Given the description of an element on the screen output the (x, y) to click on. 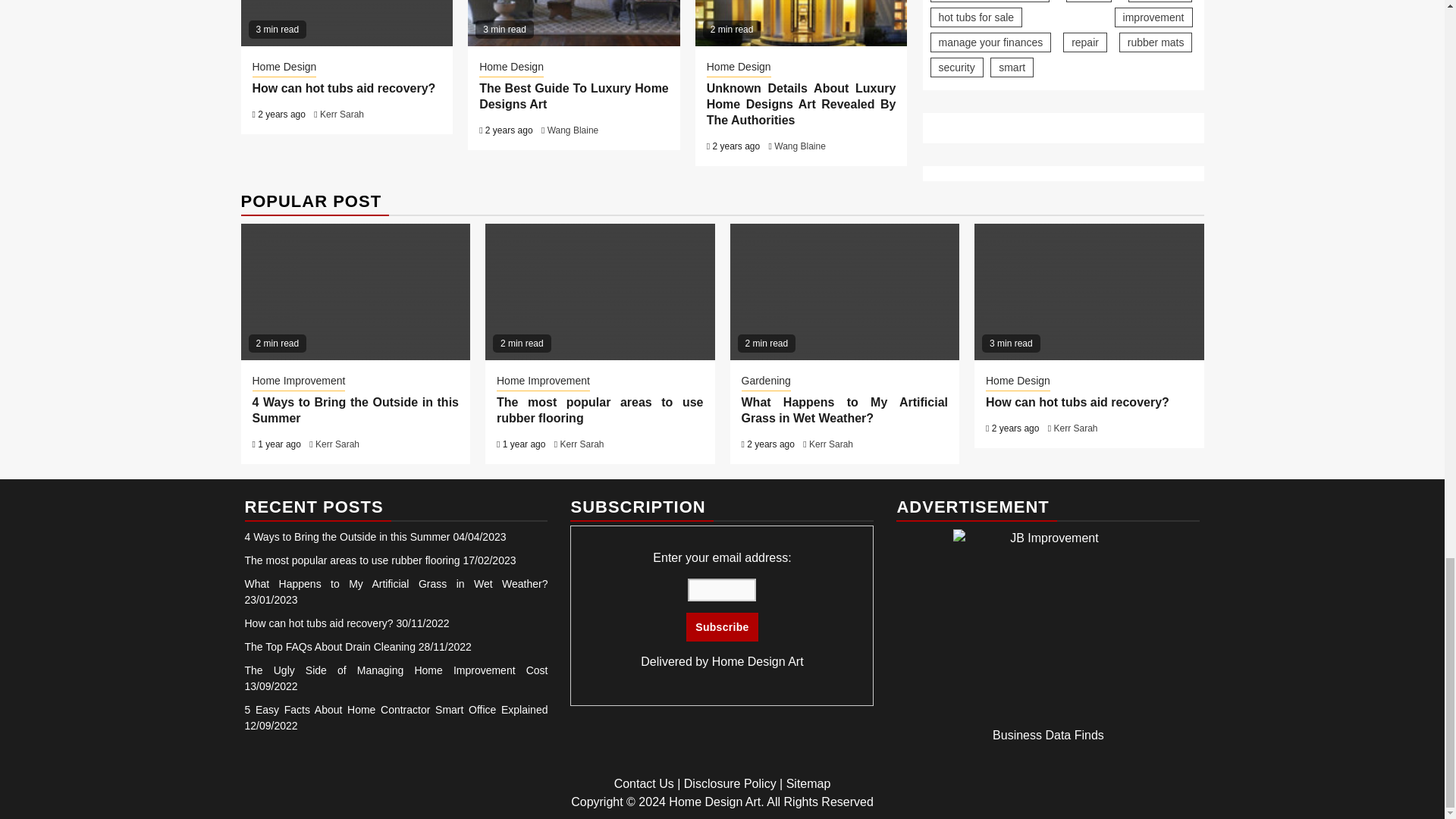
How can hot tubs aid recovery? (346, 22)
Home Design (283, 67)
Home Design (738, 67)
Home Design (511, 67)
The Best Guide To Luxury Home Designs Art (573, 95)
How can hot tubs aid recovery? (343, 88)
The Best Guide To Luxury Home Designs Art (573, 22)
Wang Blaine (572, 130)
Subscribe (721, 626)
Wang Blaine (799, 145)
Kerr Sarah (342, 113)
